Given the description of an element on the screen output the (x, y) to click on. 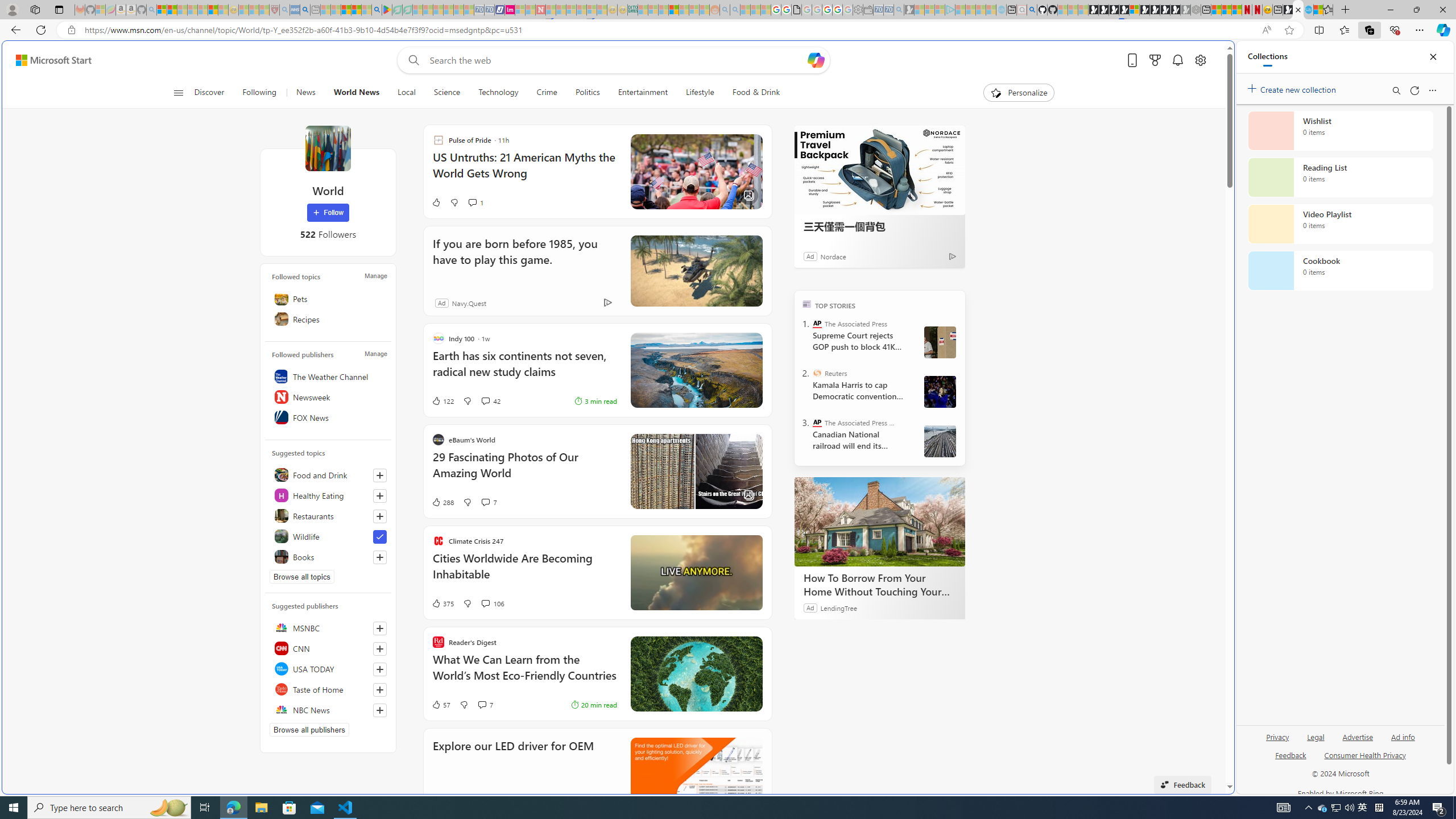
View comments 106 Comment (485, 602)
Create new collection (1293, 87)
Jobs - lastminute.com Investor Portal (509, 9)
Books (327, 556)
Frequently visited (965, 151)
